Given the description of an element on the screen output the (x, y) to click on. 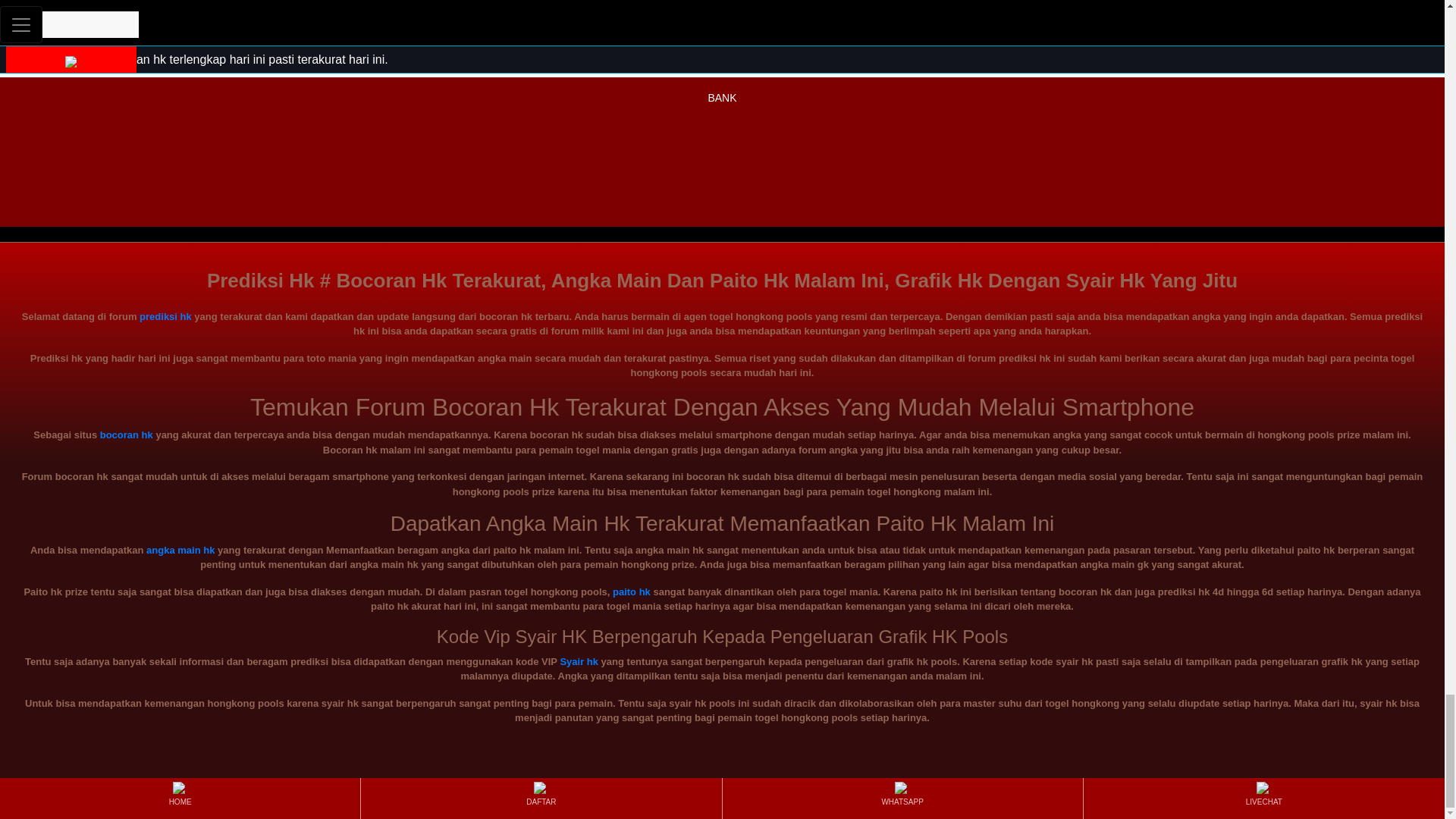
Syair hk (578, 661)
prediksi hk (722, 38)
angka main hk (180, 550)
paito hk (631, 591)
prediksi hk (165, 316)
bocoran hk (126, 434)
